Given the description of an element on the screen output the (x, y) to click on. 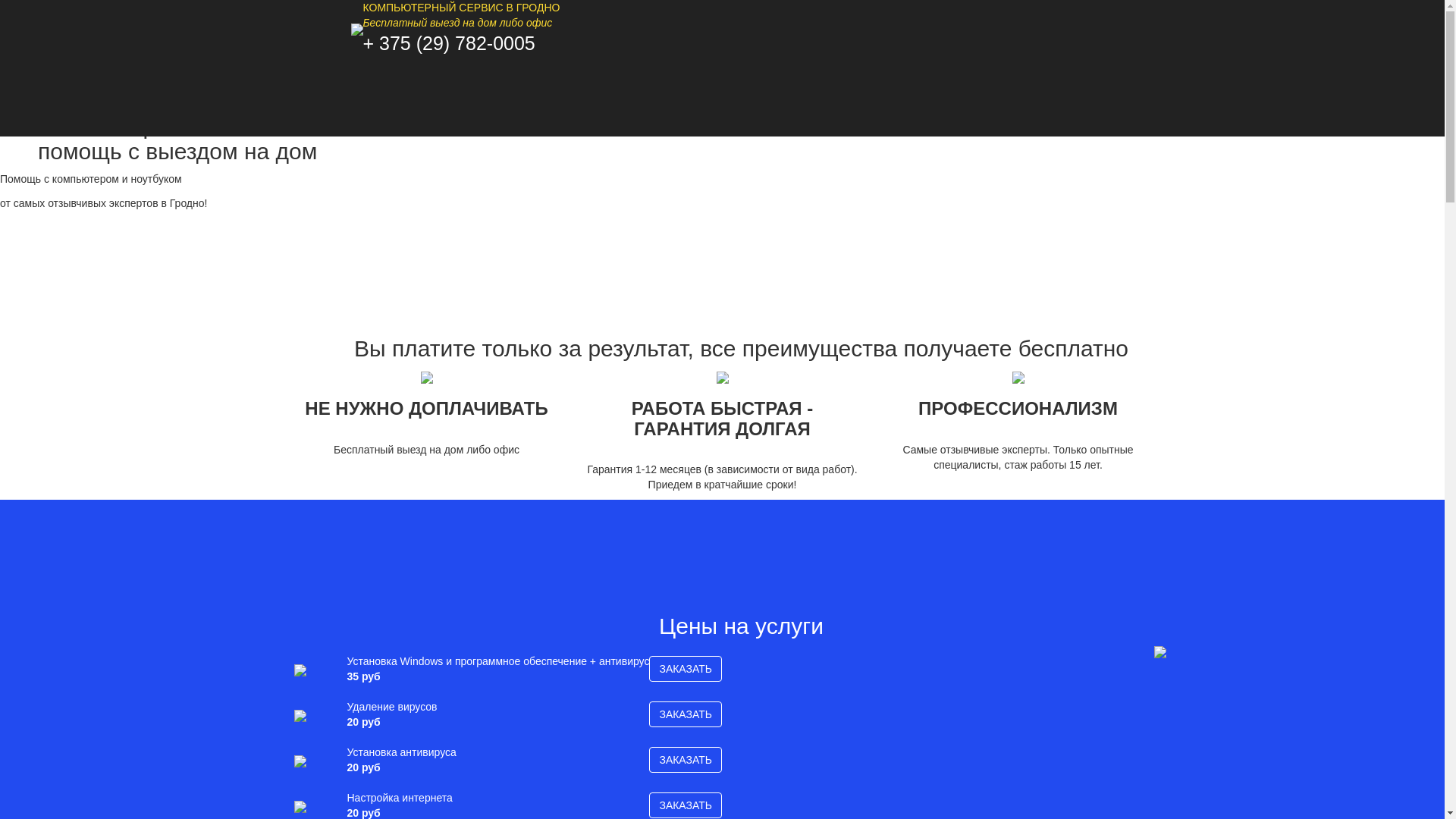
+ 375 (29) 782-0005 Element type: text (448, 42)
